Given the description of an element on the screen output the (x, y) to click on. 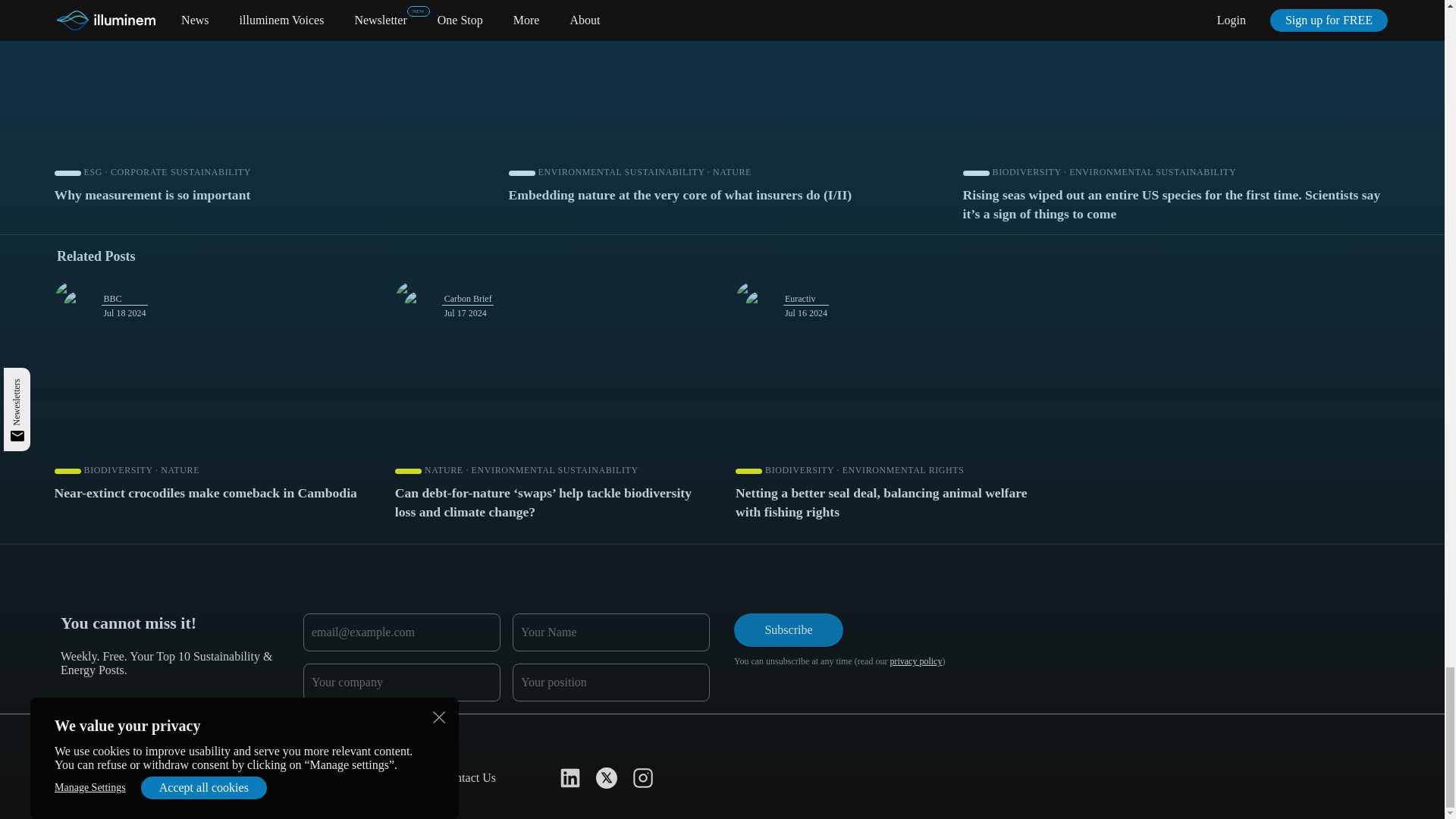
Subscribe (788, 630)
privacy policy (915, 661)
About Us (84, 777)
